Given the description of an element on the screen output the (x, y) to click on. 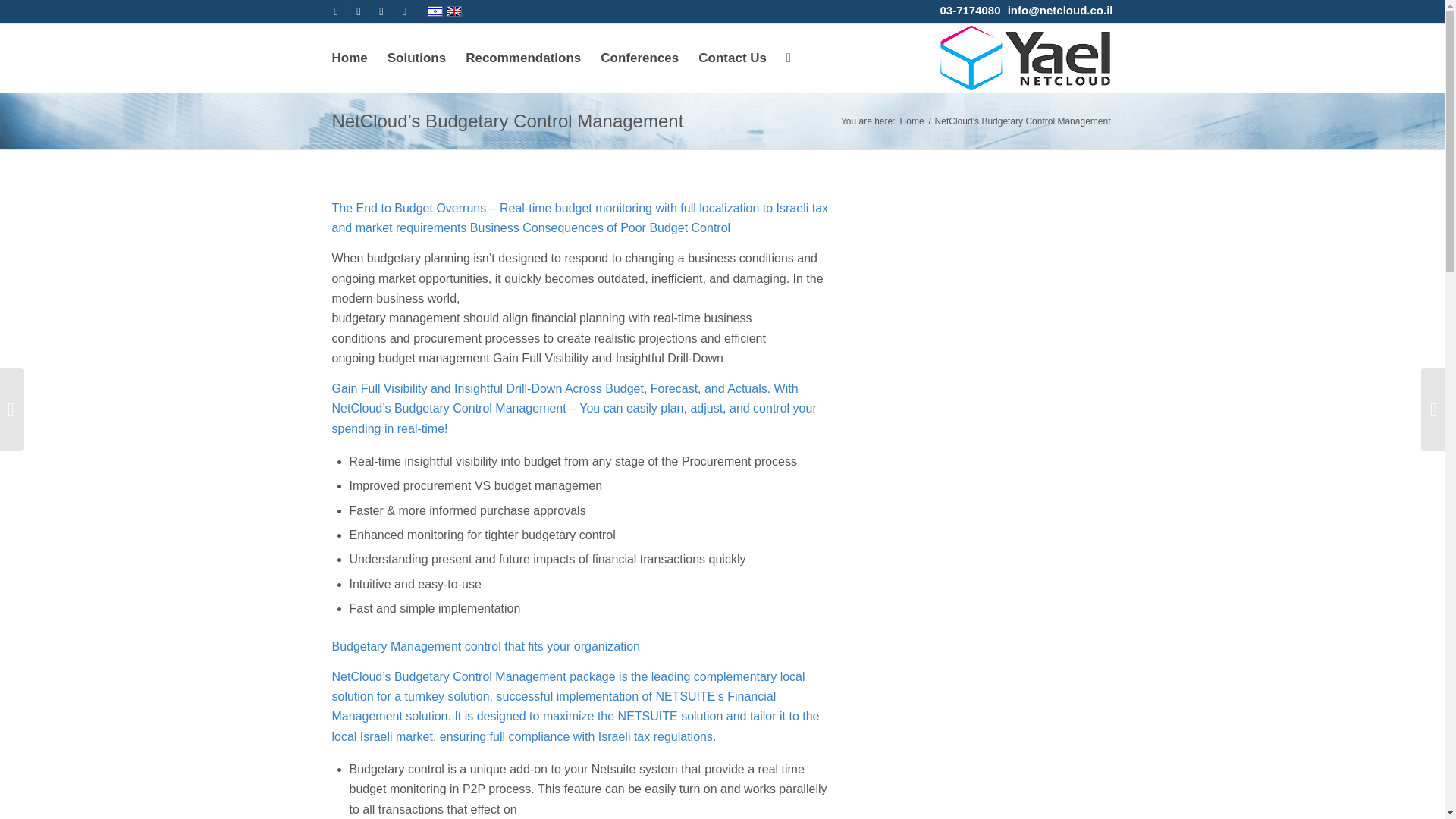
NetCloud (912, 121)
Conferences (639, 57)
Recommendations (523, 57)
Youtube (358, 11)
Mail (403, 11)
03-7174080 (969, 10)
Facebook (335, 11)
English (453, 10)
Home (912, 121)
Solutions (416, 57)
